Given the description of an element on the screen output the (x, y) to click on. 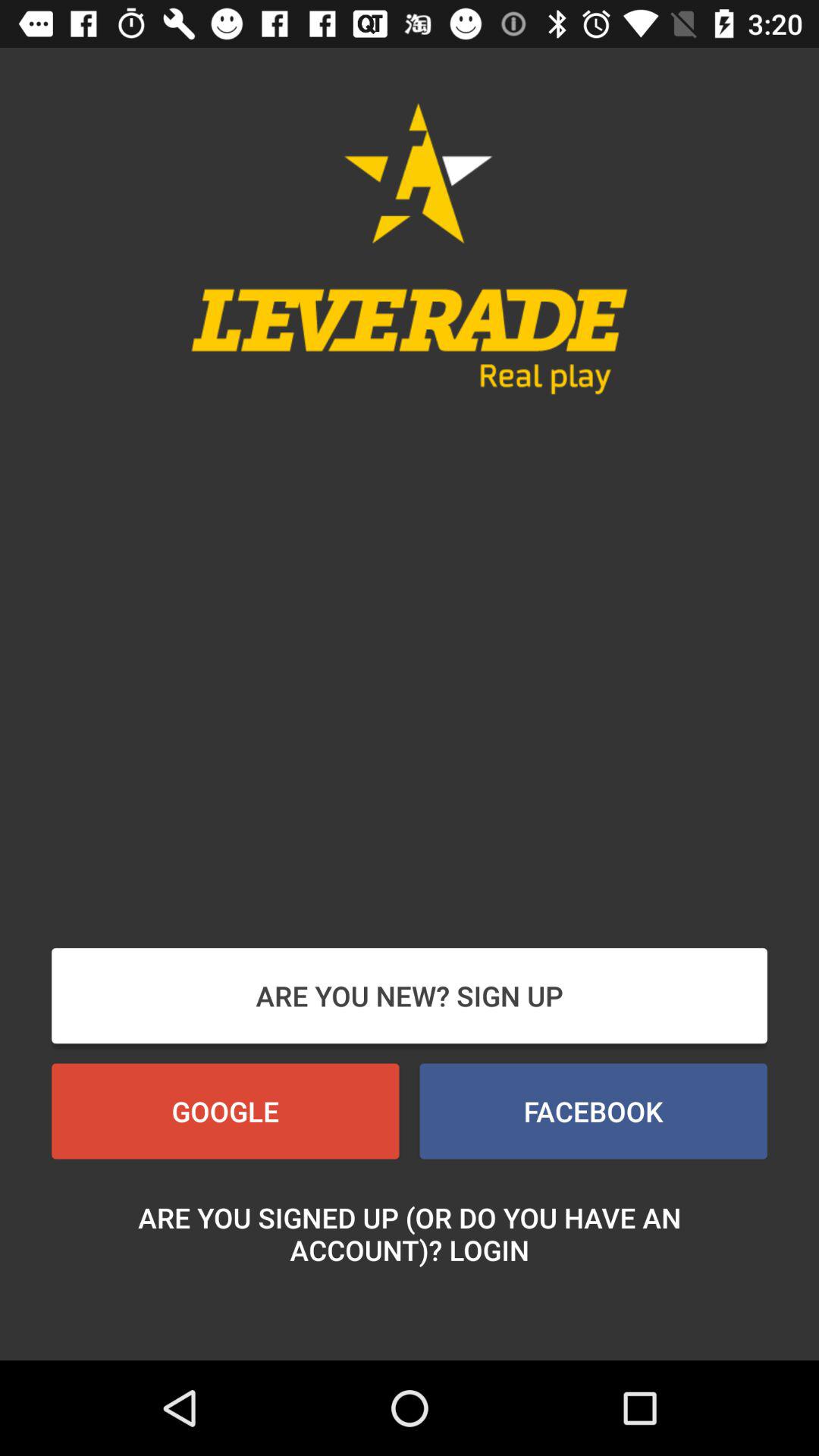
turn on the icon at the bottom right corner (593, 1111)
